Given the description of an element on the screen output the (x, y) to click on. 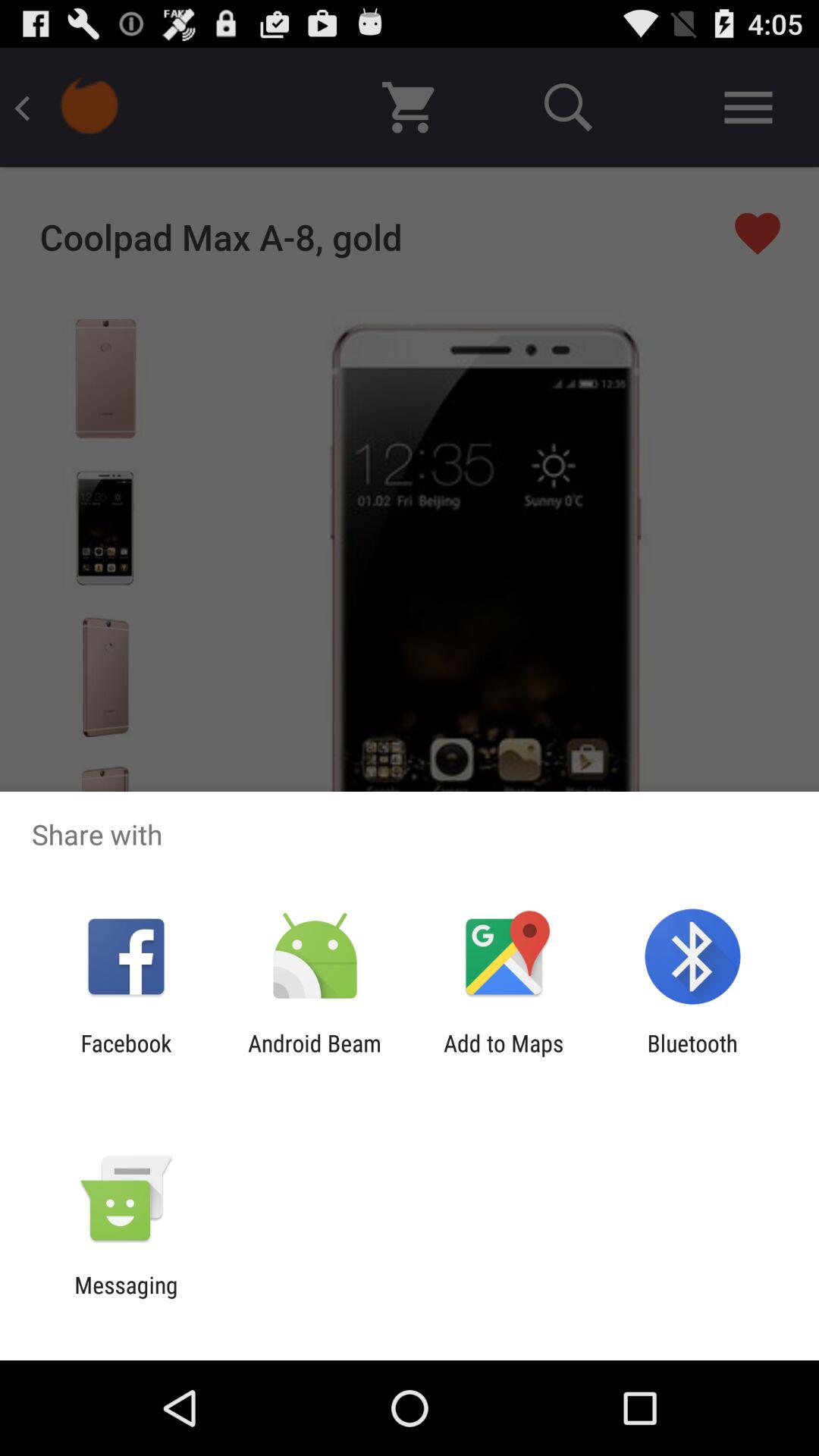
press the messaging (126, 1298)
